Given the description of an element on the screen output the (x, y) to click on. 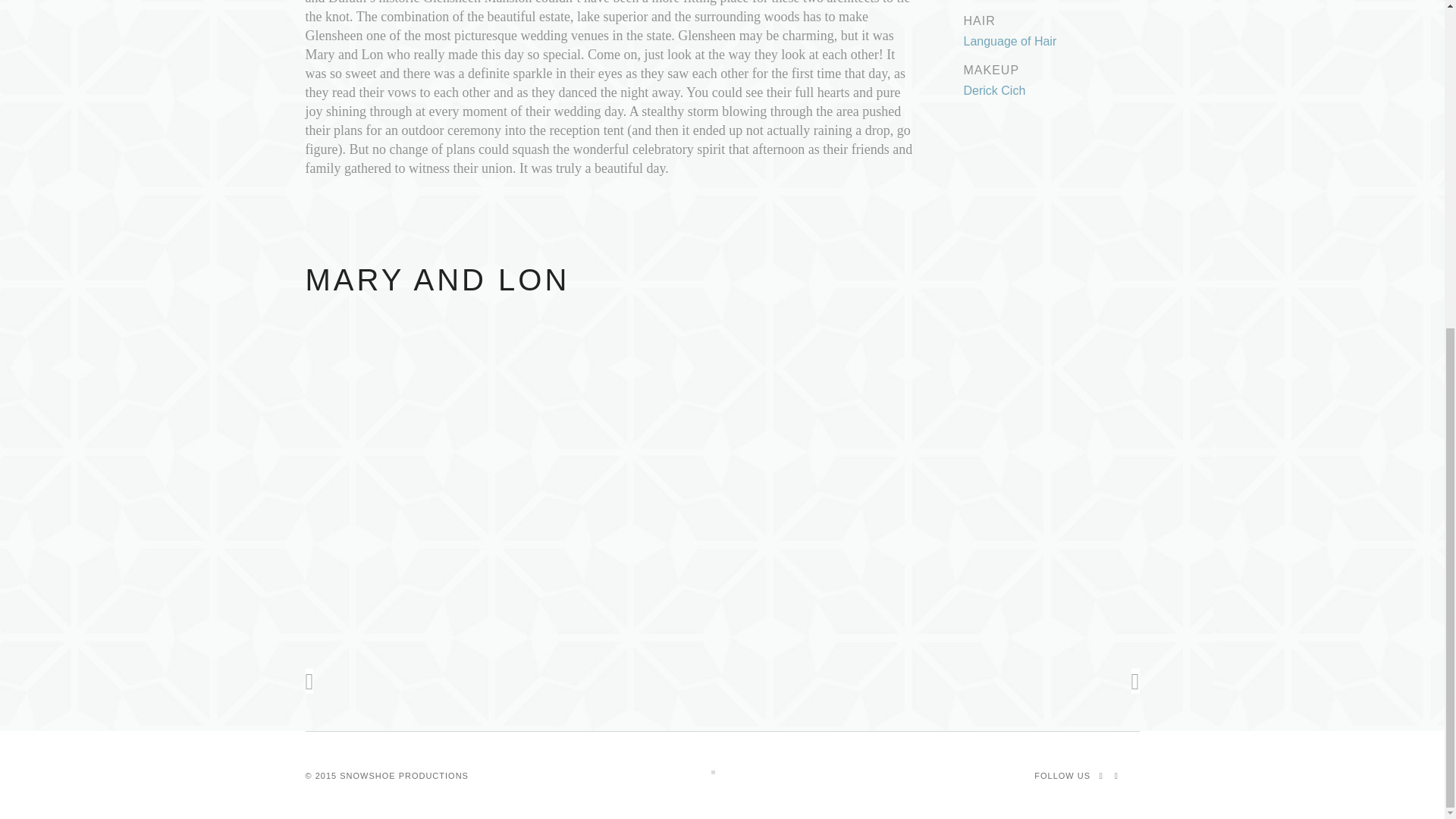
Derick Cich (993, 90)
Language of Hair (1009, 41)
